Given the description of an element on the screen output the (x, y) to click on. 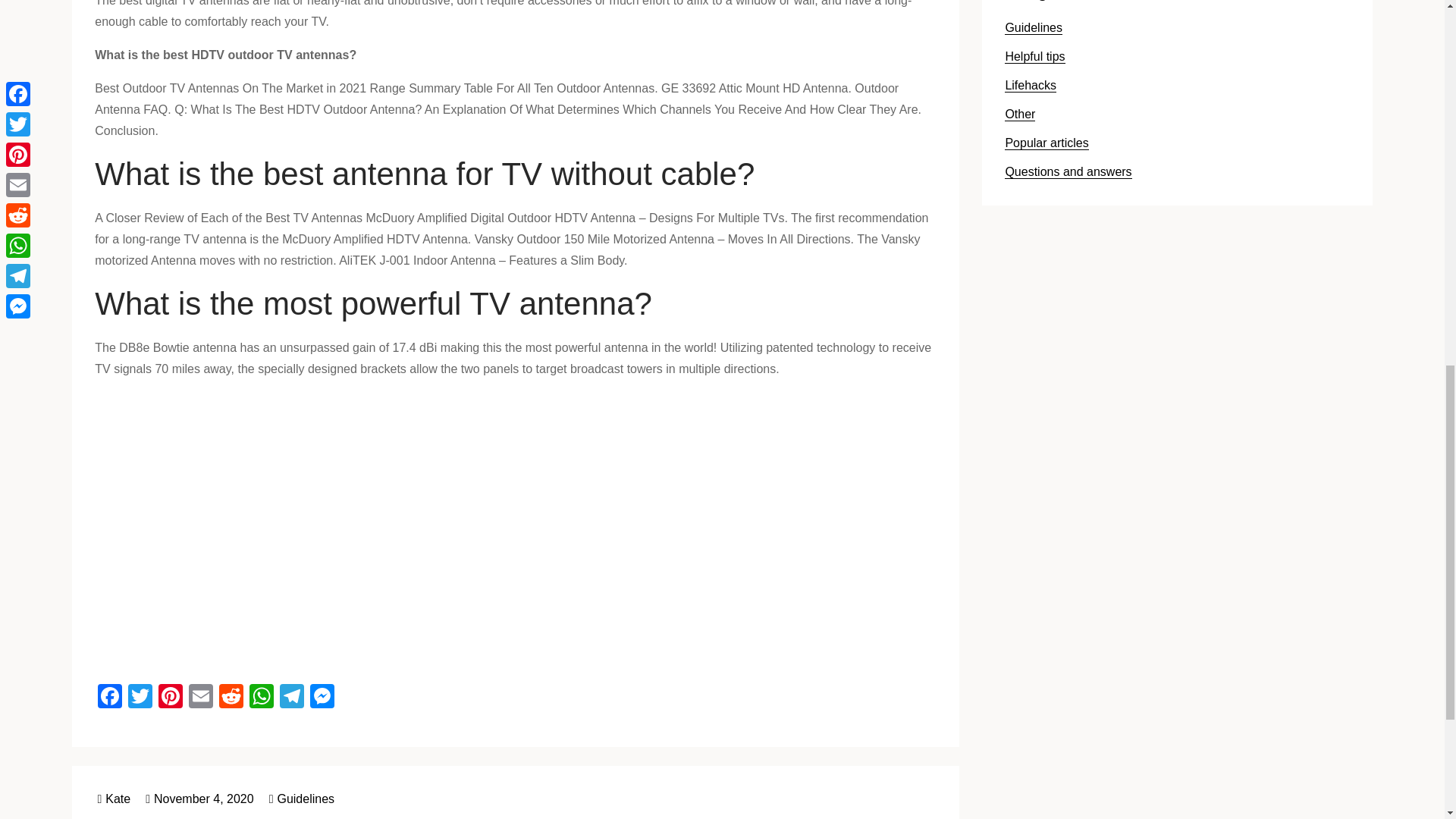
Telegram (291, 697)
Pinterest (170, 697)
WhatsApp (261, 697)
Pinterest (170, 697)
WhatsApp (261, 697)
Twitter (140, 697)
Kate (114, 798)
Reddit (230, 697)
Email (200, 697)
Reddit (230, 697)
Guidelines (305, 798)
Facebook (109, 697)
Messenger (322, 697)
Telegram (291, 697)
